Given the description of an element on the screen output the (x, y) to click on. 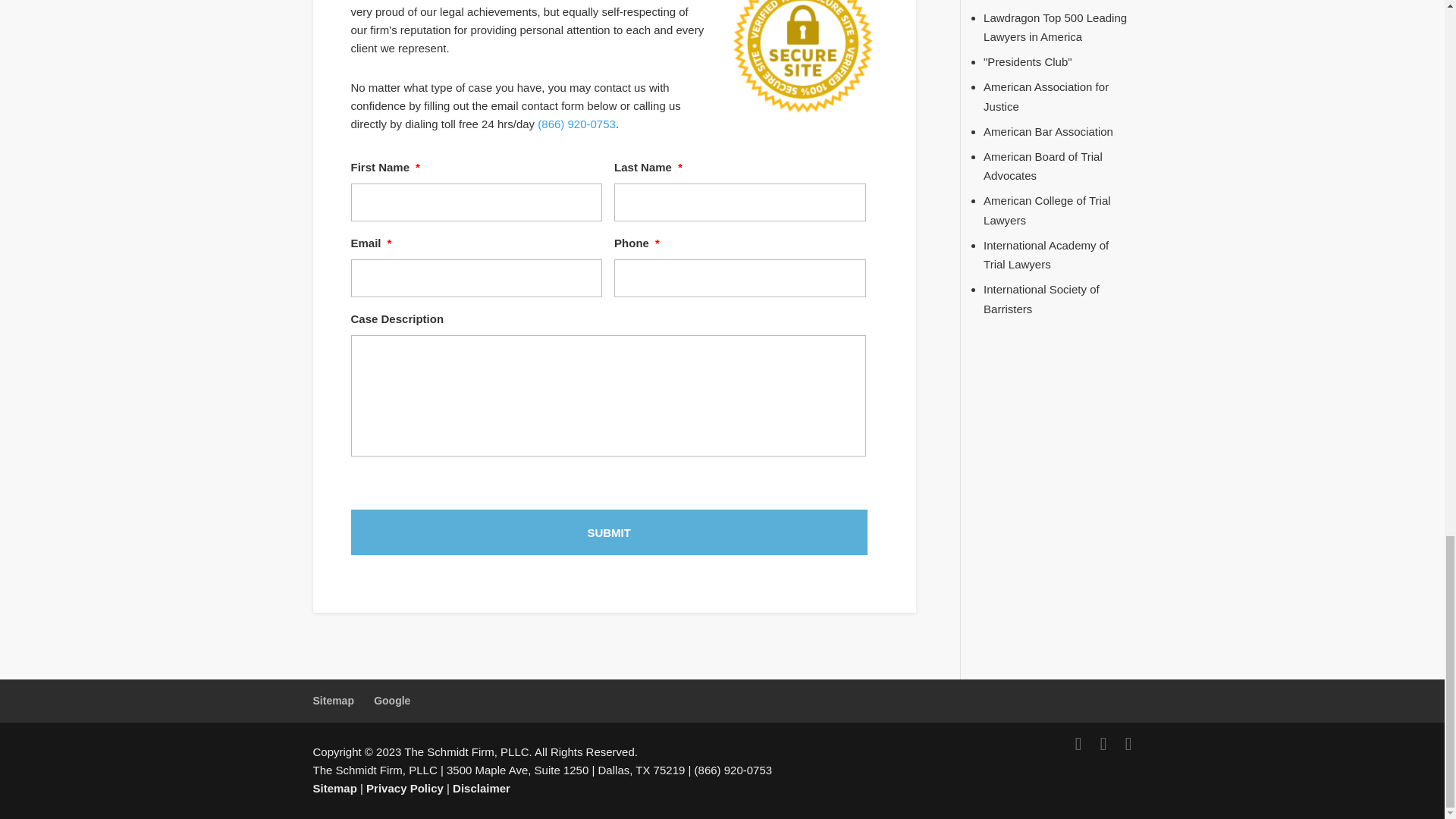
Submit (608, 532)
Submit (608, 532)
Sitemap (333, 700)
Google (392, 700)
